Given the description of an element on the screen output the (x, y) to click on. 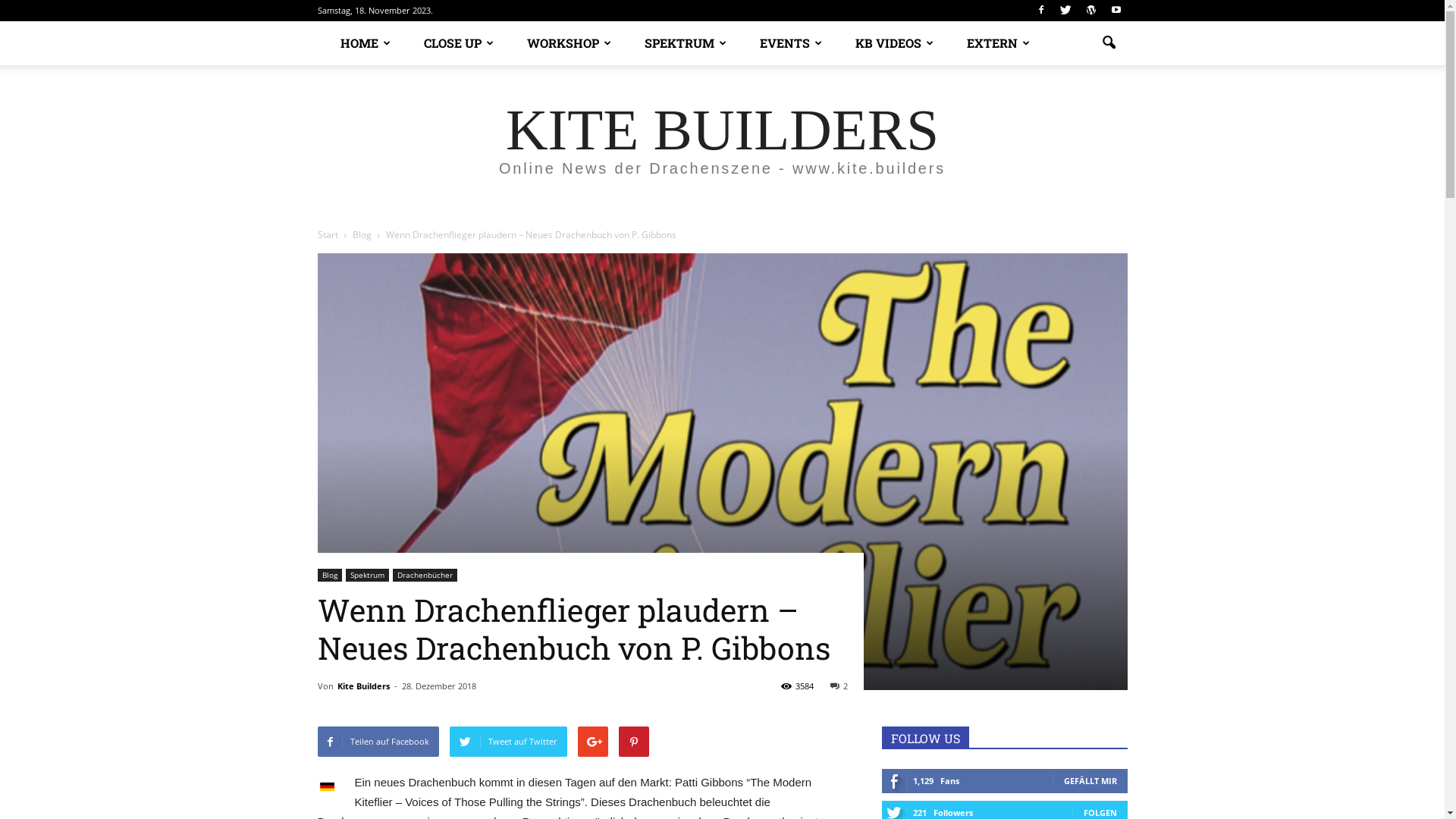
Tweet auf Twitter Element type: text (507, 741)
Kite Builders Element type: text (362, 685)
CLOSE UP Element type: text (451, 43)
Youtube Element type: hover (1115, 10)
FOLGEN Element type: text (1099, 812)
Spektrum Element type: text (367, 574)
Teilen auf Facebook Element type: text (377, 741)
HOME Element type: text (358, 43)
2 Element type: text (838, 685)
Start Element type: text (326, 234)
EXTERN Element type: text (991, 43)
SPEKTRUM Element type: text (679, 43)
Facebook Element type: hover (1040, 10)
KB VIDEOS Element type: text (888, 43)
WORKSHOP Element type: text (562, 43)
EVENTS Element type: text (784, 43)
Blog Element type: text (328, 574)
Screenshot 2018-12-28 at 14.17.35 Element type: hover (721, 471)
WordPress Element type: hover (1090, 10)
Twitter Element type: hover (1065, 10)
Blog Element type: text (362, 234)
